Given the description of an element on the screen output the (x, y) to click on. 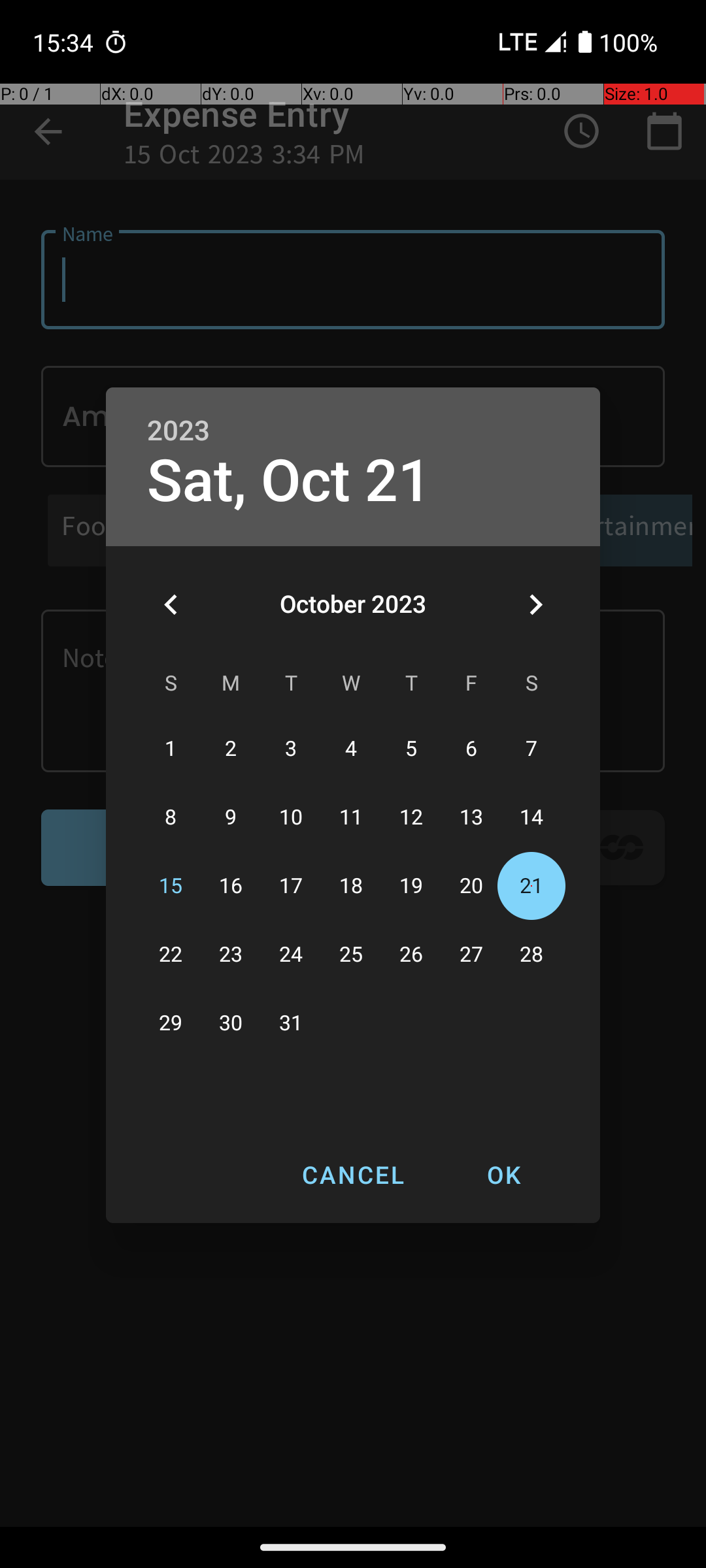
Sat, Oct 21 Element type: android.widget.TextView (289, 480)
